Given the description of an element on the screen output the (x, y) to click on. 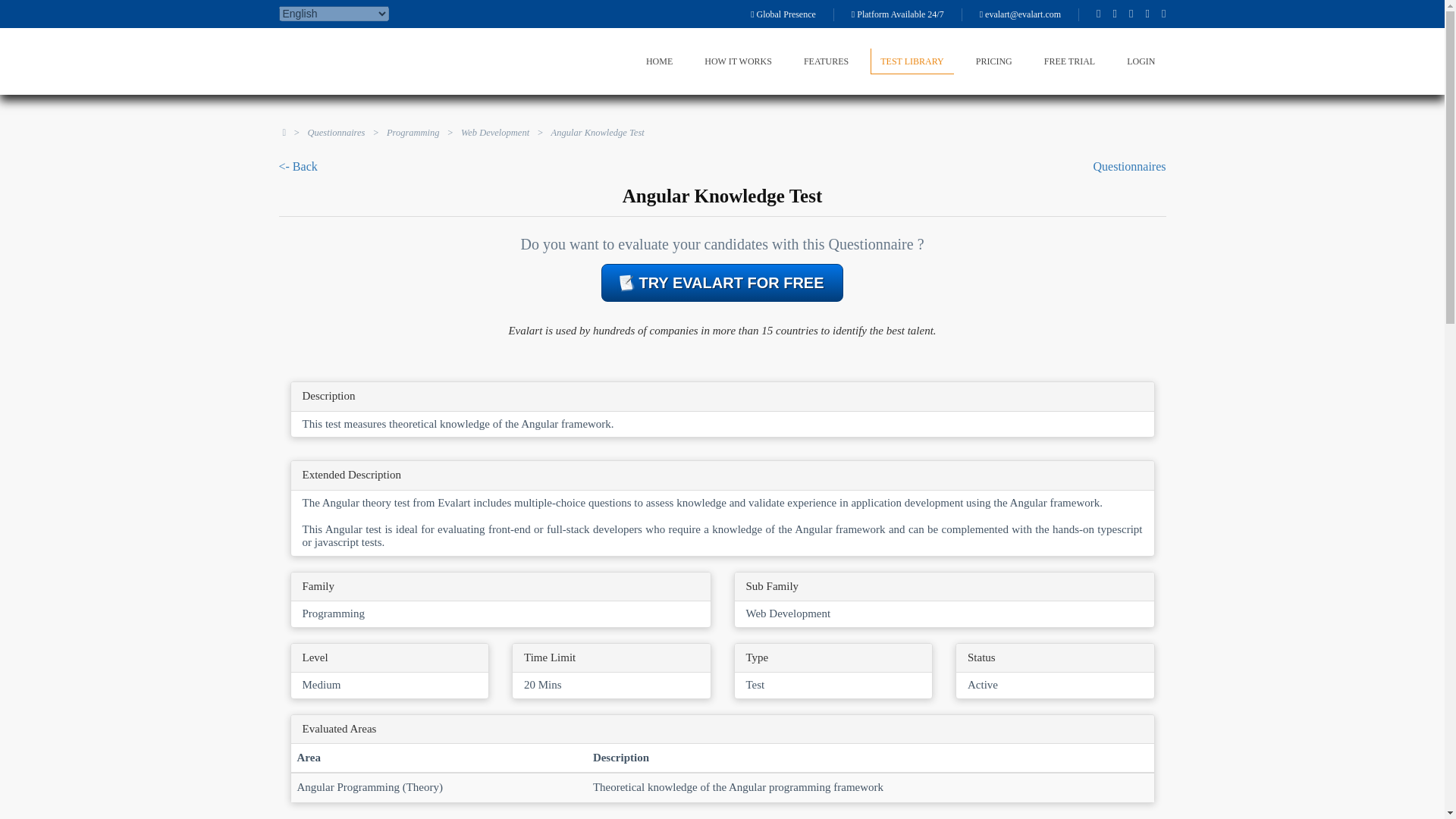
PRICING (994, 61)
Free Trial (1069, 61)
TRY EVALART FOR FREE (722, 282)
HOME (659, 61)
LOGIN (1140, 61)
Pricing (994, 61)
Login (1140, 61)
FREE TRIAL (1069, 61)
Features (826, 61)
Programming (413, 132)
TEST LIBRARY (911, 61)
Questionnaires (1129, 165)
Questionnaires (336, 132)
HOW IT WORKS (737, 61)
Test Library (911, 61)
